Given the description of an element on the screen output the (x, y) to click on. 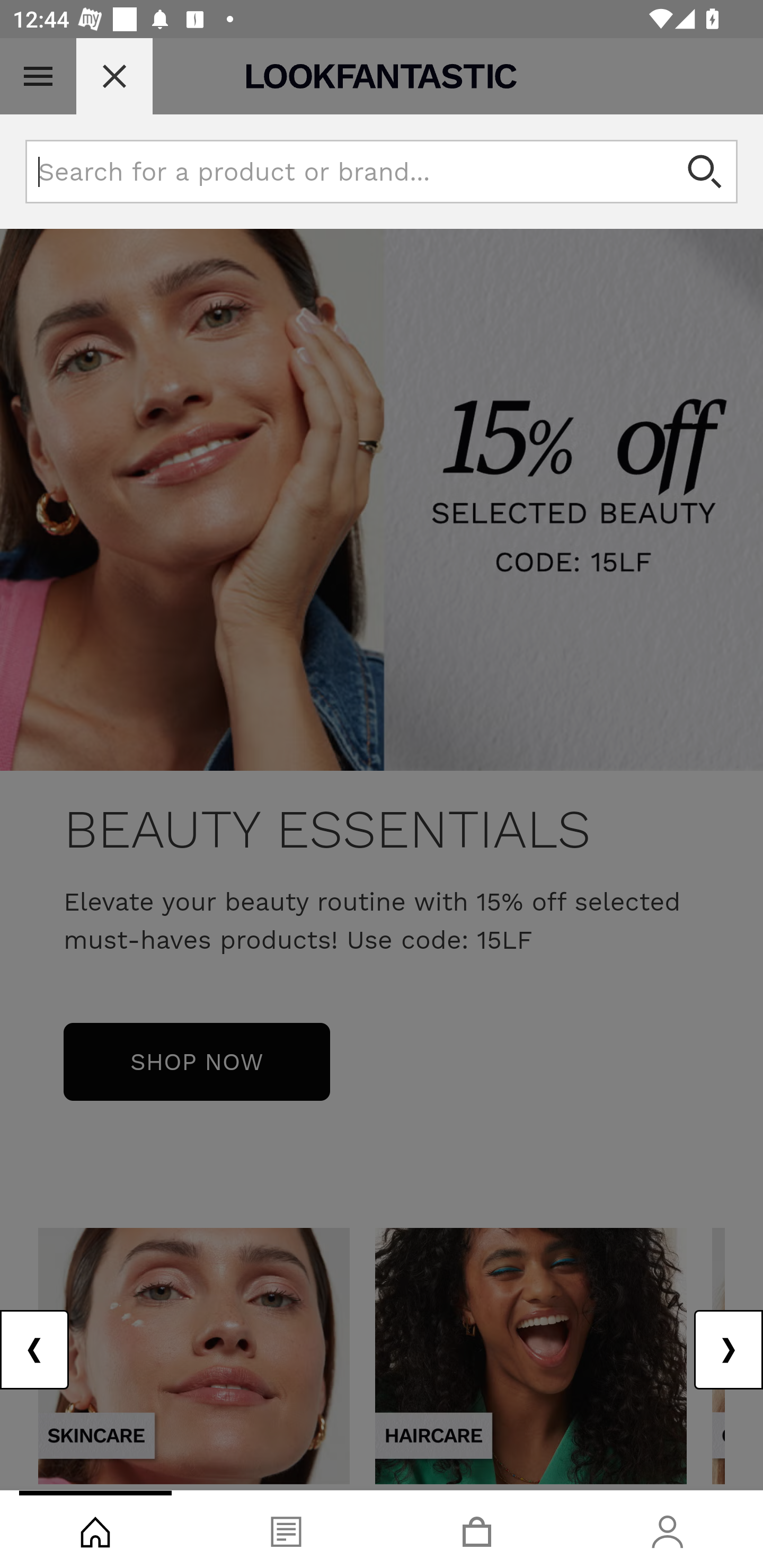
Close search (114, 75)
Start search (705, 171)
Previous (35, 1349)
Next (727, 1349)
Shop, tab, 1 of 4 (95, 1529)
Blog, tab, 2 of 4 (285, 1529)
Basket, tab, 3 of 4 (476, 1529)
Account, tab, 4 of 4 (667, 1529)
